Given the description of an element on the screen output the (x, y) to click on. 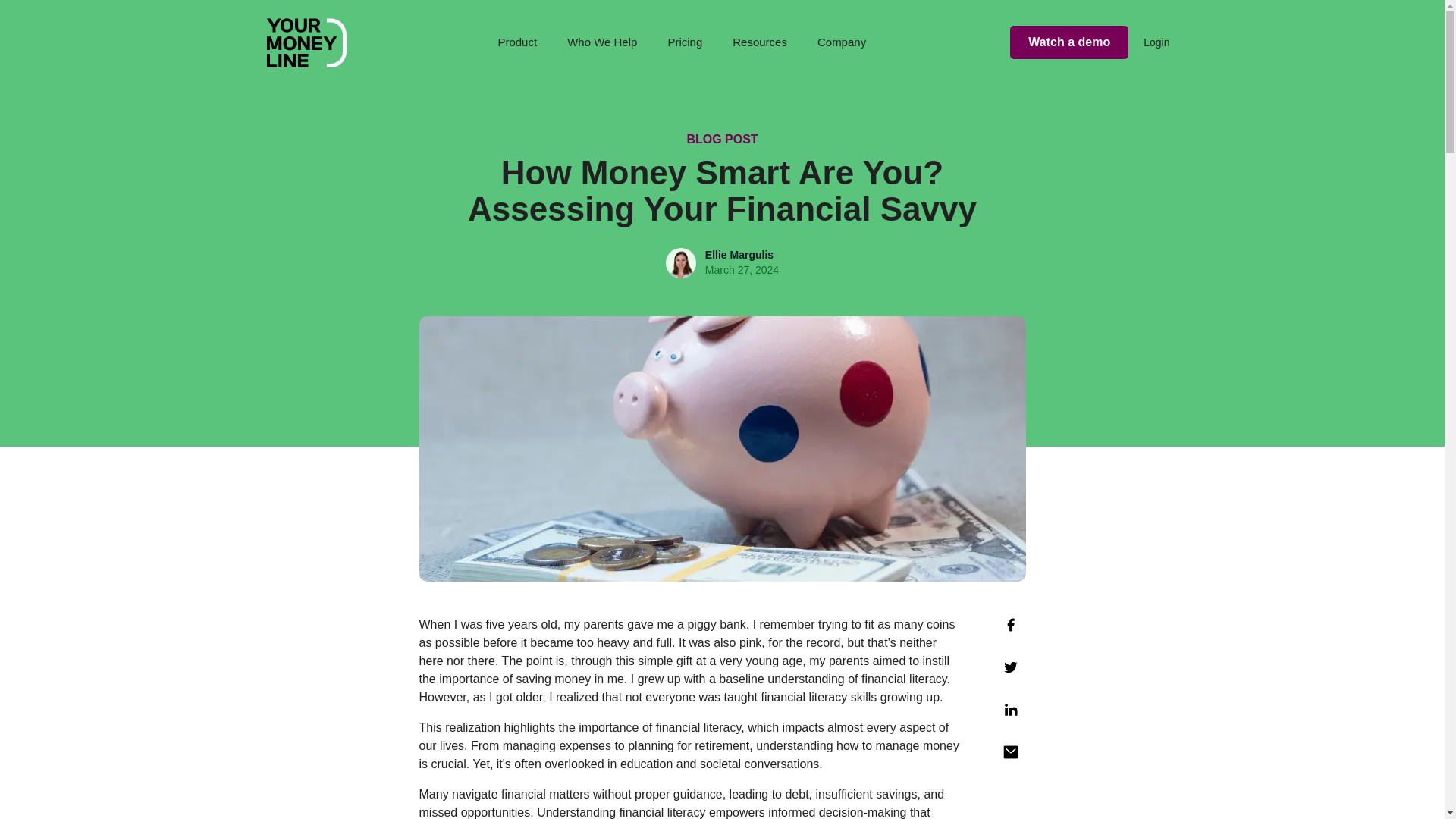
Login (1148, 42)
Watch a demo (1069, 41)
Share by Email'; (1009, 752)
Product (520, 42)
Pricing (684, 42)
